Given the description of an element on the screen output the (x, y) to click on. 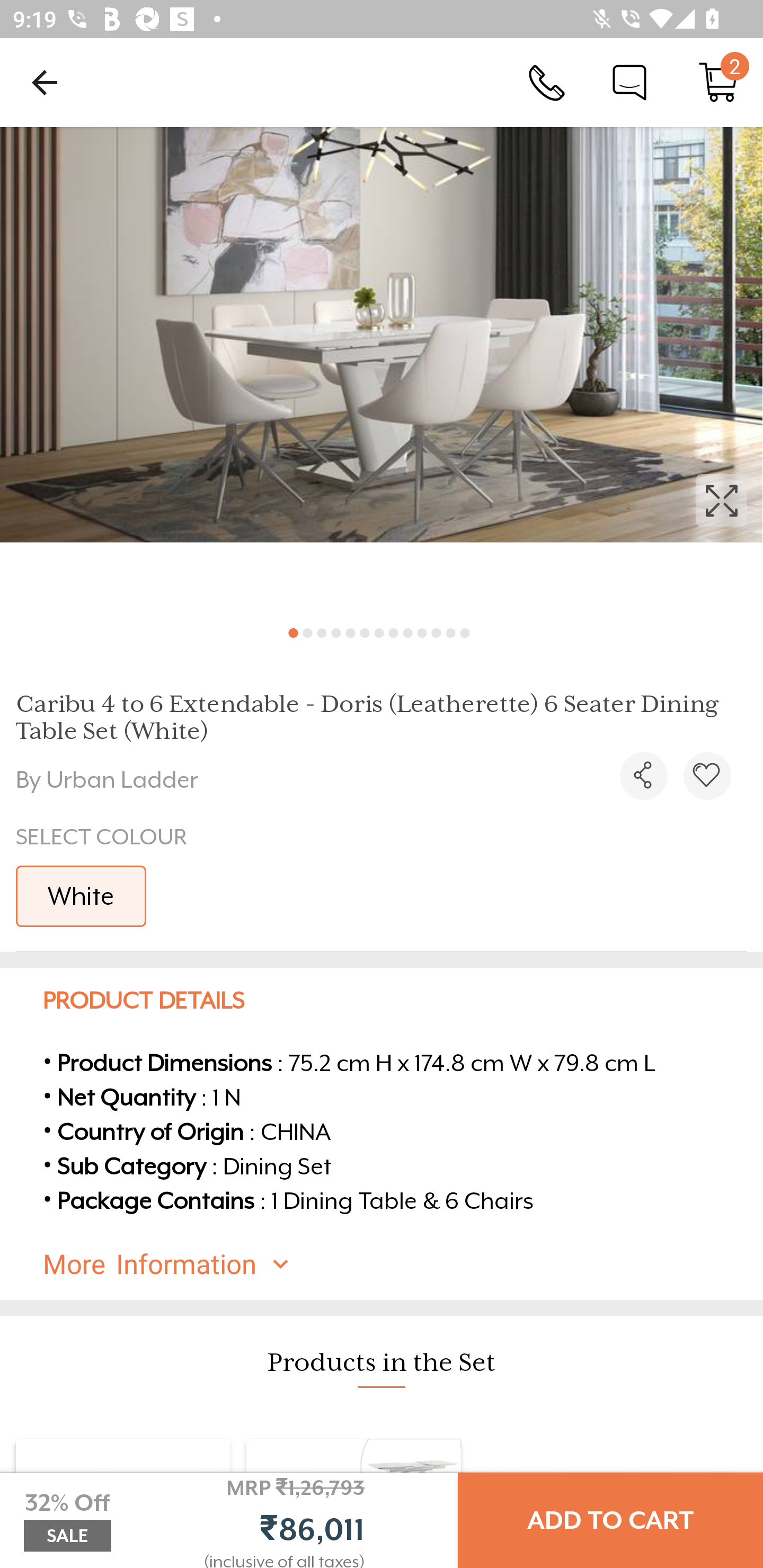
Navigate up (44, 82)
Call Us (546, 81)
Chat (629, 81)
Cart (718, 81)
 (381, 370)
 (643, 775)
 (706, 775)
White (81, 895)
More Information  (396, 1264)
ADD TO CART (610, 1520)
